Given the description of an element on the screen output the (x, y) to click on. 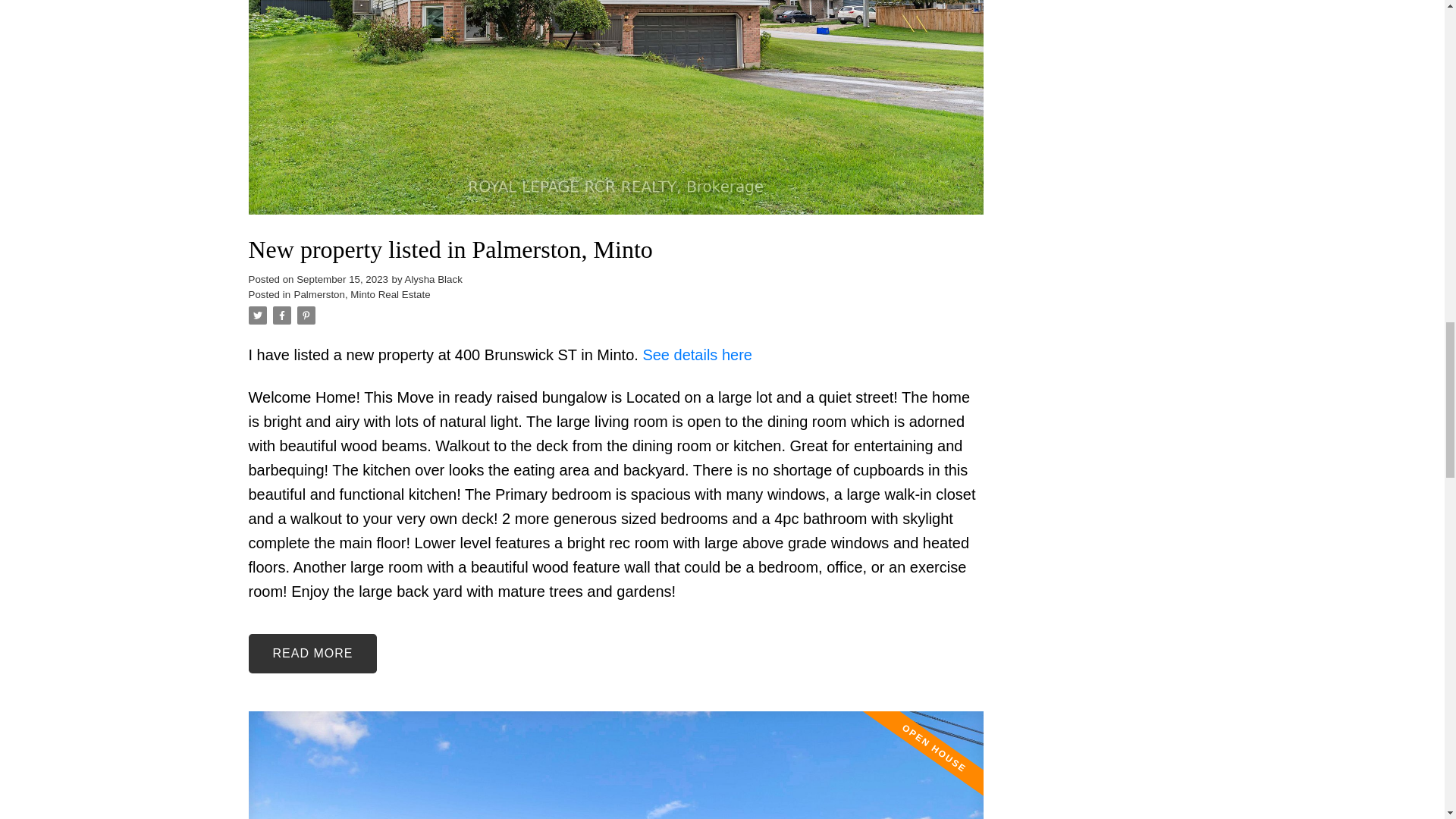
Palmerston, Minto Real Estate (362, 294)
New property listed in Palmerston, Minto (616, 249)
Read full post (616, 765)
